Given the description of an element on the screen output the (x, y) to click on. 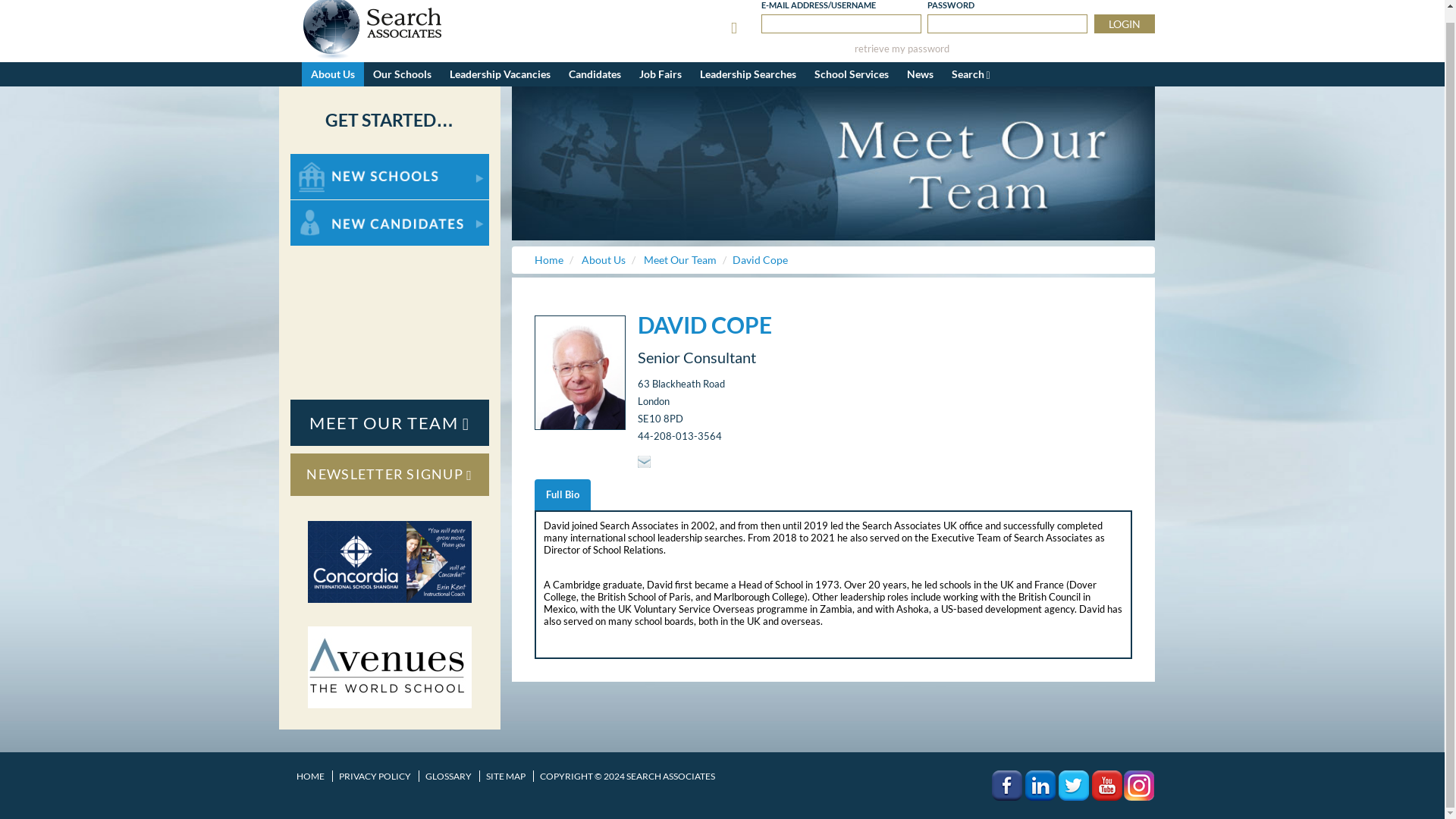
About Us (332, 74)
Job Fairs (659, 74)
Our Schools (402, 74)
Candidates (594, 74)
LOGIN (1124, 23)
Leadership Searches (747, 74)
retrieve my password (901, 48)
School Services (851, 74)
LOGIN (1124, 23)
Leadership Vacancies (499, 74)
